Given the description of an element on the screen output the (x, y) to click on. 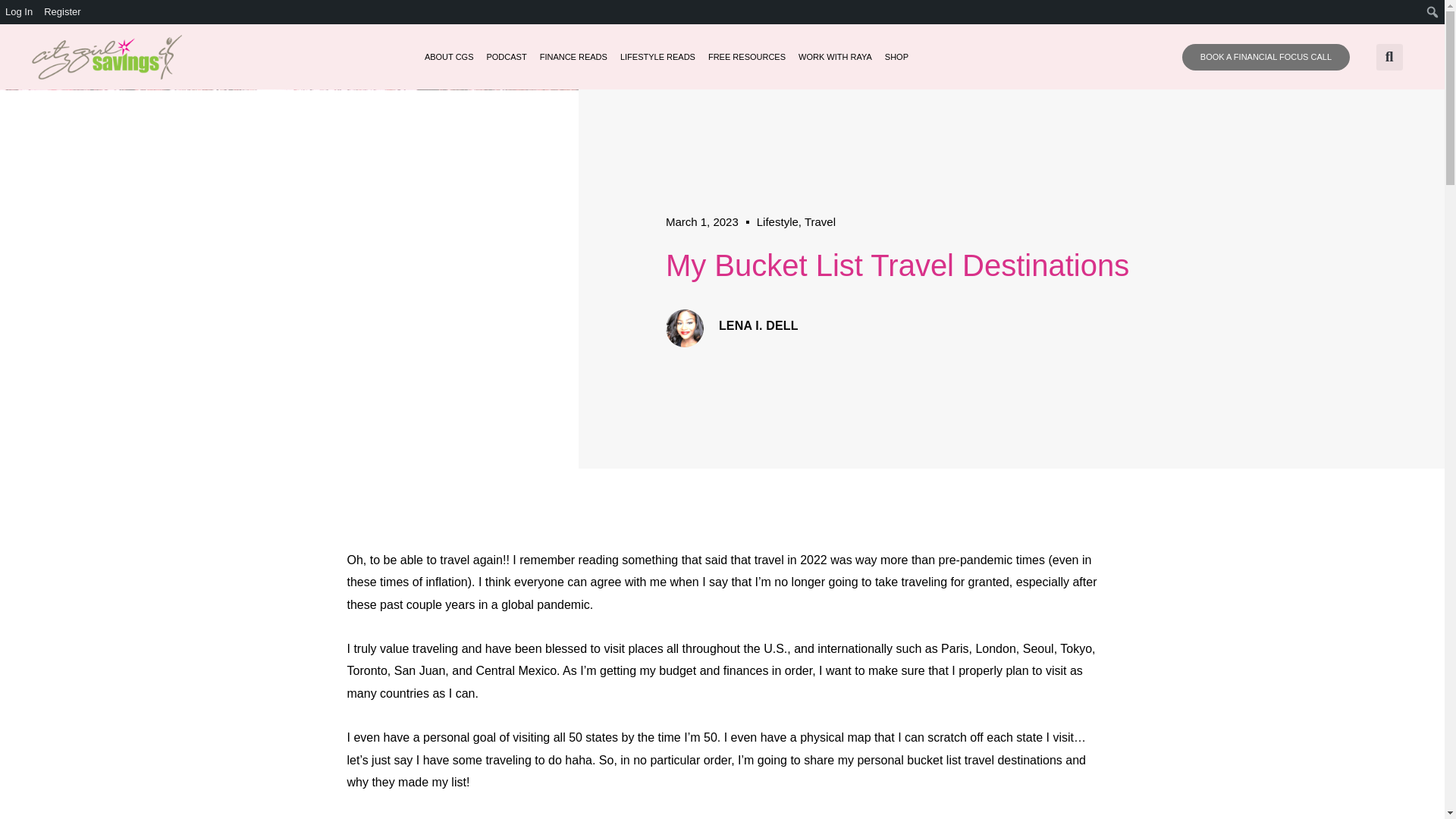
ABOUT CGS (449, 56)
FREE RESOURCES (746, 56)
LIFESTYLE READS (657, 56)
Search (15, 12)
Register (62, 12)
PODCAST (505, 56)
WORK WITH RAYA (834, 56)
SHOP (896, 56)
Log In (19, 12)
FINANCE READS (573, 56)
